Given the description of an element on the screen output the (x, y) to click on. 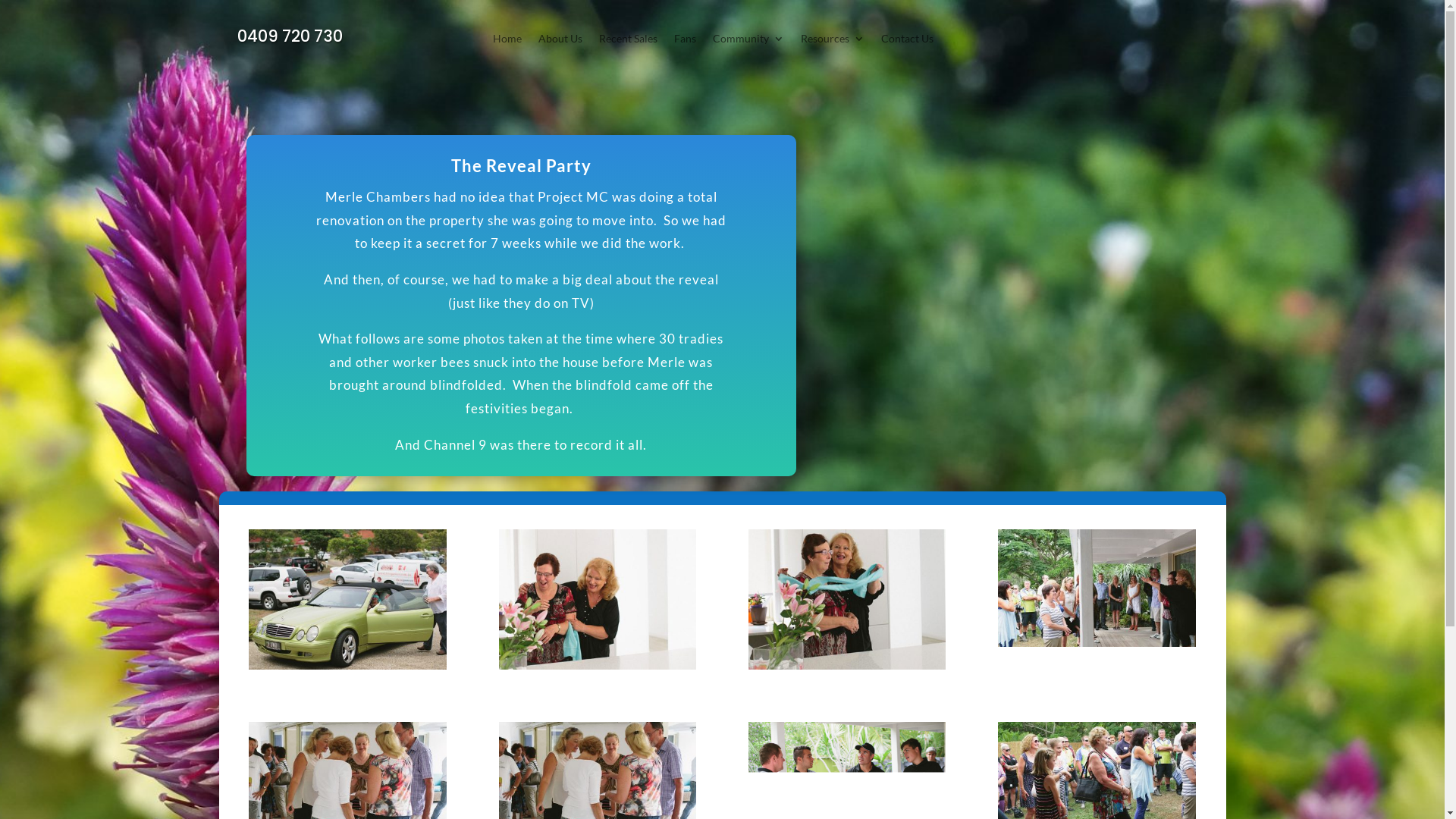
Contact Us Element type: text (907, 41)
Merle Arriving - blindfolded Element type: hover (347, 664)
Community Element type: text (748, 41)
Off comes the blindfold Element type: hover (847, 664)
Fans Element type: text (685, 41)
Home Element type: text (506, 41)
About Us Element type: text (560, 41)
Resources Element type: text (832, 41)
0409 720 730 Element type: text (289, 36)
Recent Sales Element type: text (628, 41)
A new dishwasher as well Element type: hover (597, 664)
Merle sees her friends Element type: hover (1096, 664)
